Given the description of an element on the screen output the (x, y) to click on. 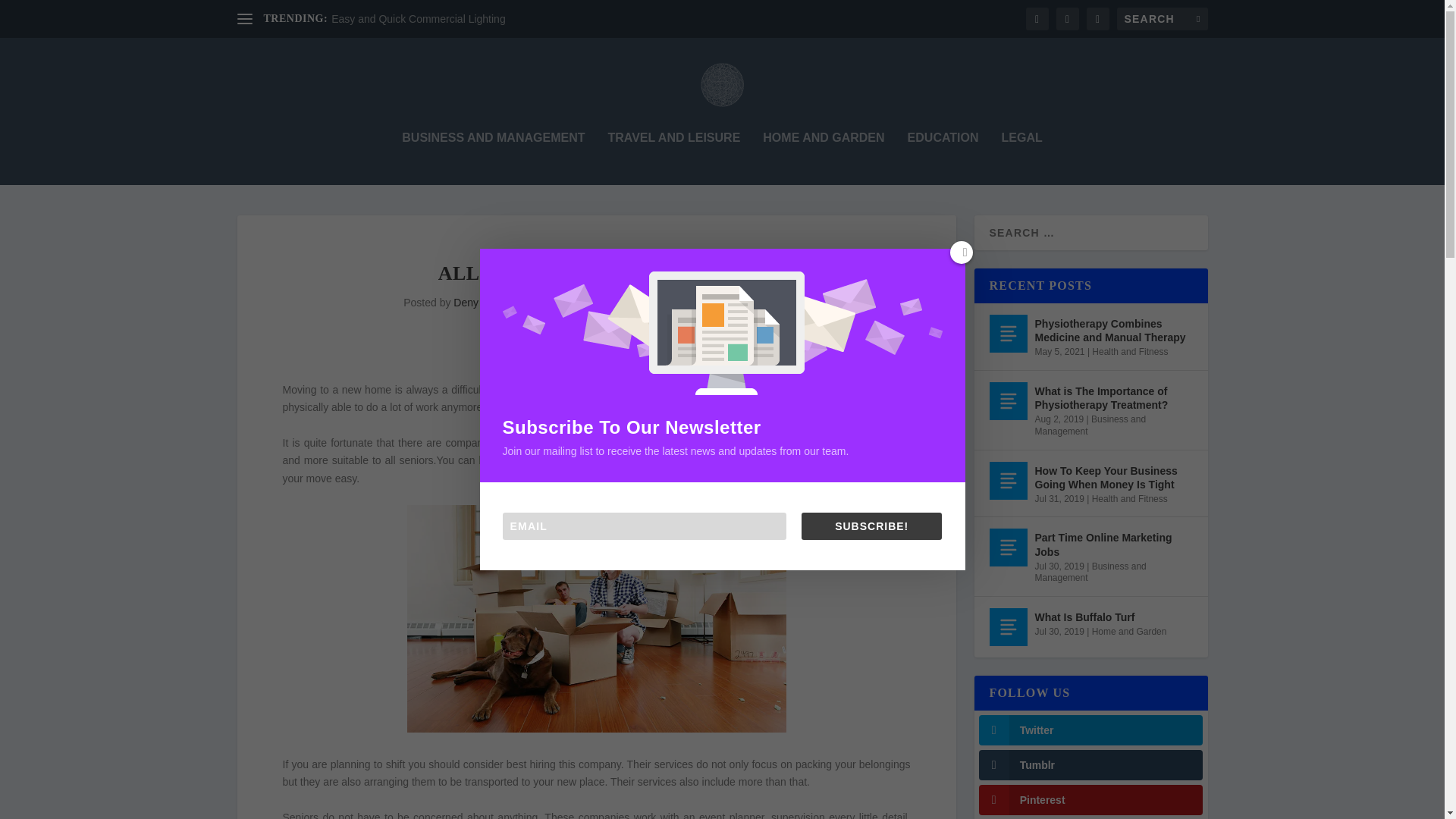
Deny Mure (478, 302)
HOME AND GARDEN (822, 158)
0 (724, 302)
EDUCATION (942, 158)
BUSINESS AND MANAGEMENT (493, 158)
Search for: (1161, 18)
Business and Management (645, 302)
Rating: 0.00 (764, 303)
TRAVEL AND LEISURE (673, 158)
Easy and Quick Commercial Lighting (418, 19)
Posts by Deny Mure (478, 302)
